Given the description of an element on the screen output the (x, y) to click on. 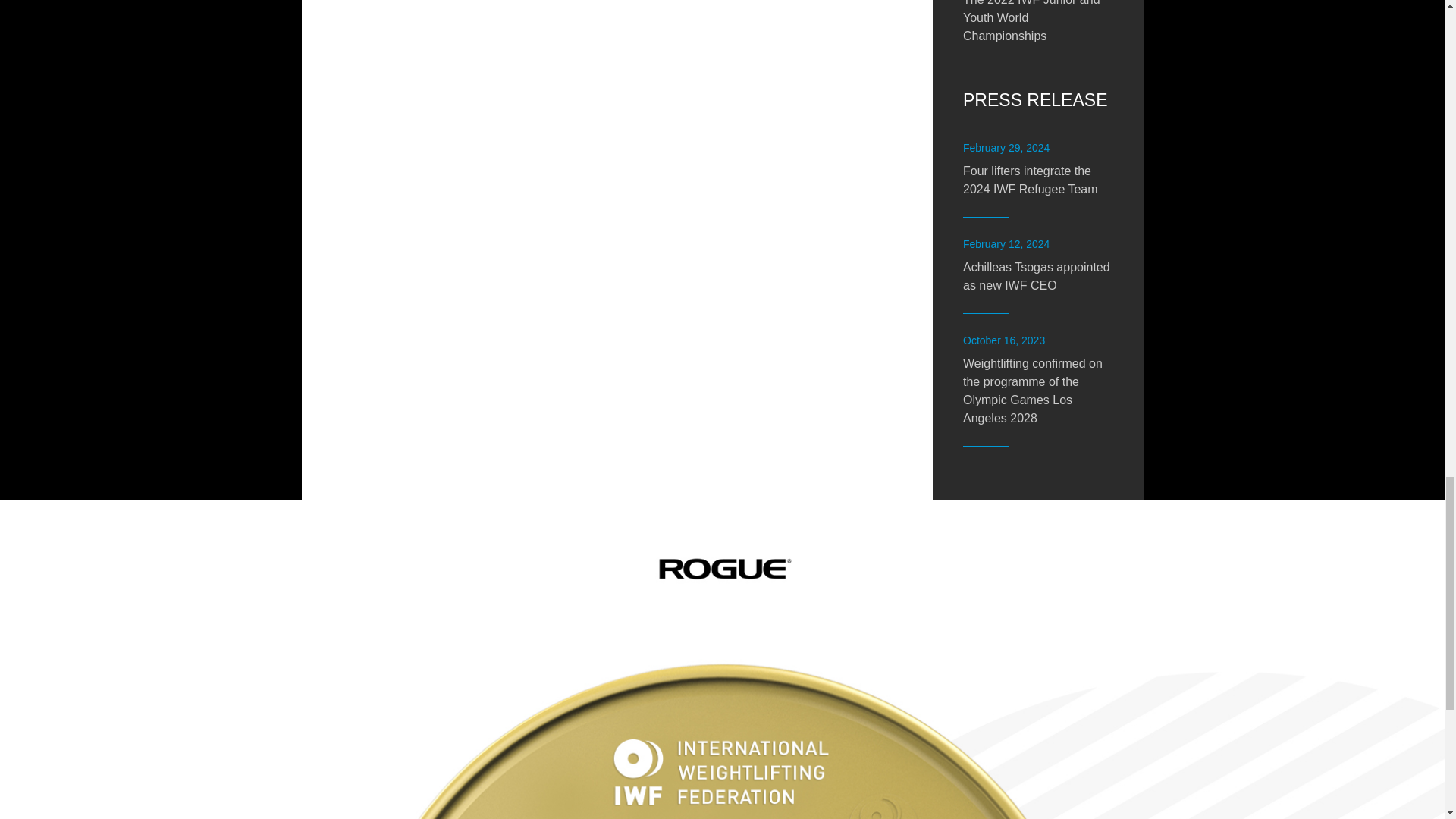
Rogue Fitness (722, 568)
